Given the description of an element on the screen output the (x, y) to click on. 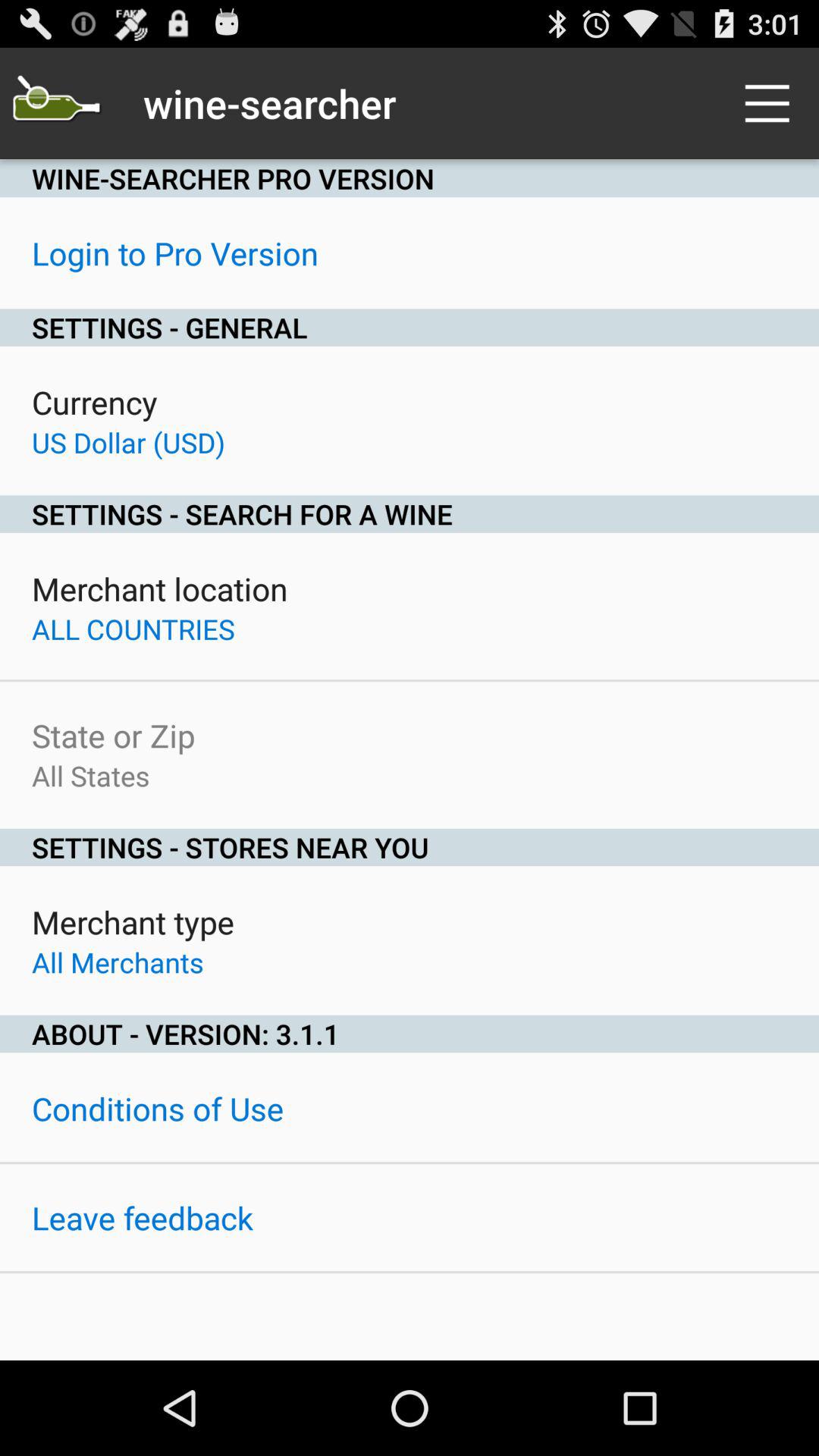
launch the item above the state or zip item (132, 628)
